Given the description of an element on the screen output the (x, y) to click on. 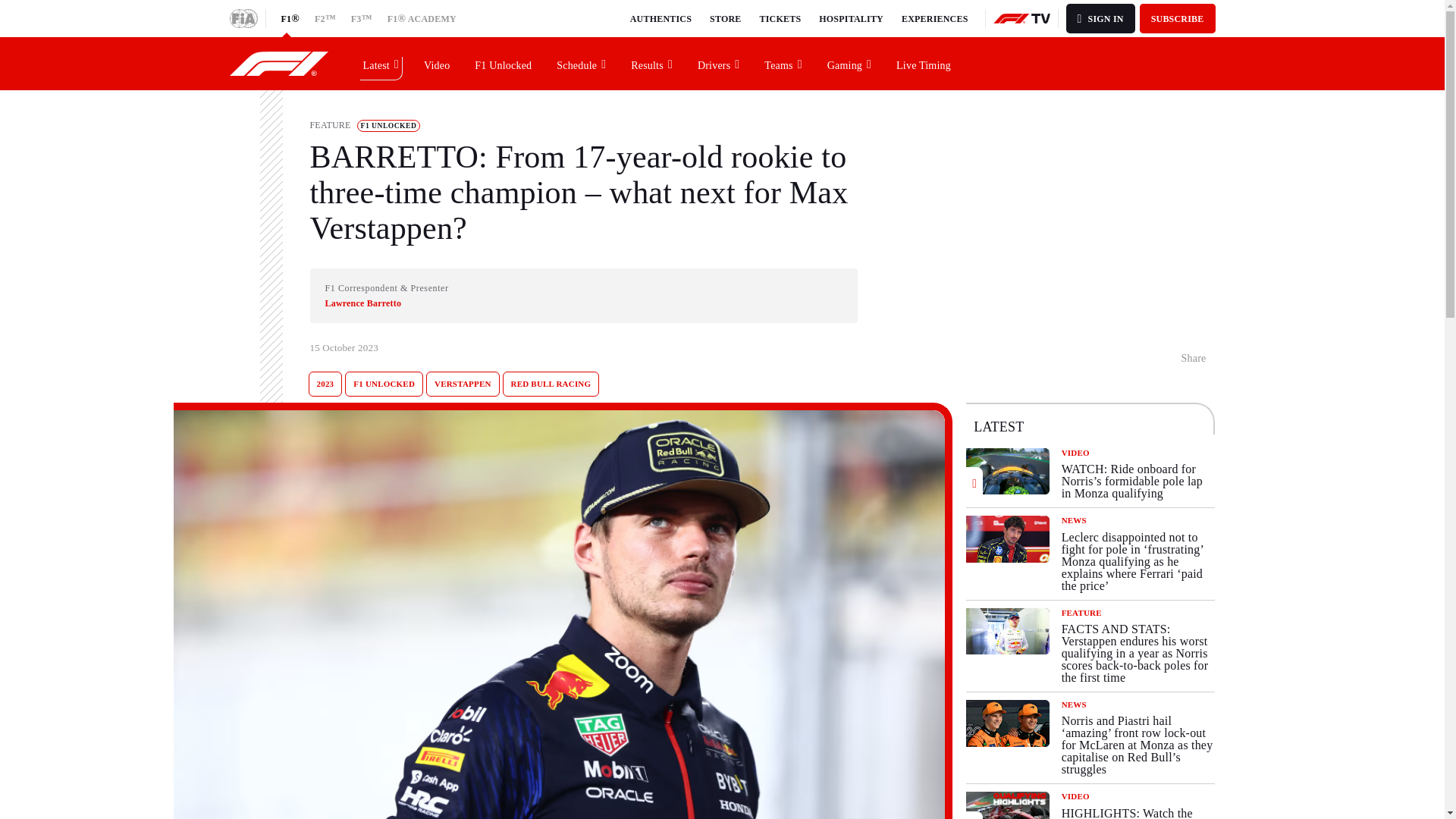
Drivers (718, 63)
VERSTAPPEN (462, 383)
SUBSCRIBE (1177, 18)
Teams (782, 63)
TICKETS (781, 18)
Gaming (849, 63)
STORE (725, 18)
EXPERIENCES (934, 18)
2023 (324, 383)
